Given the description of an element on the screen output the (x, y) to click on. 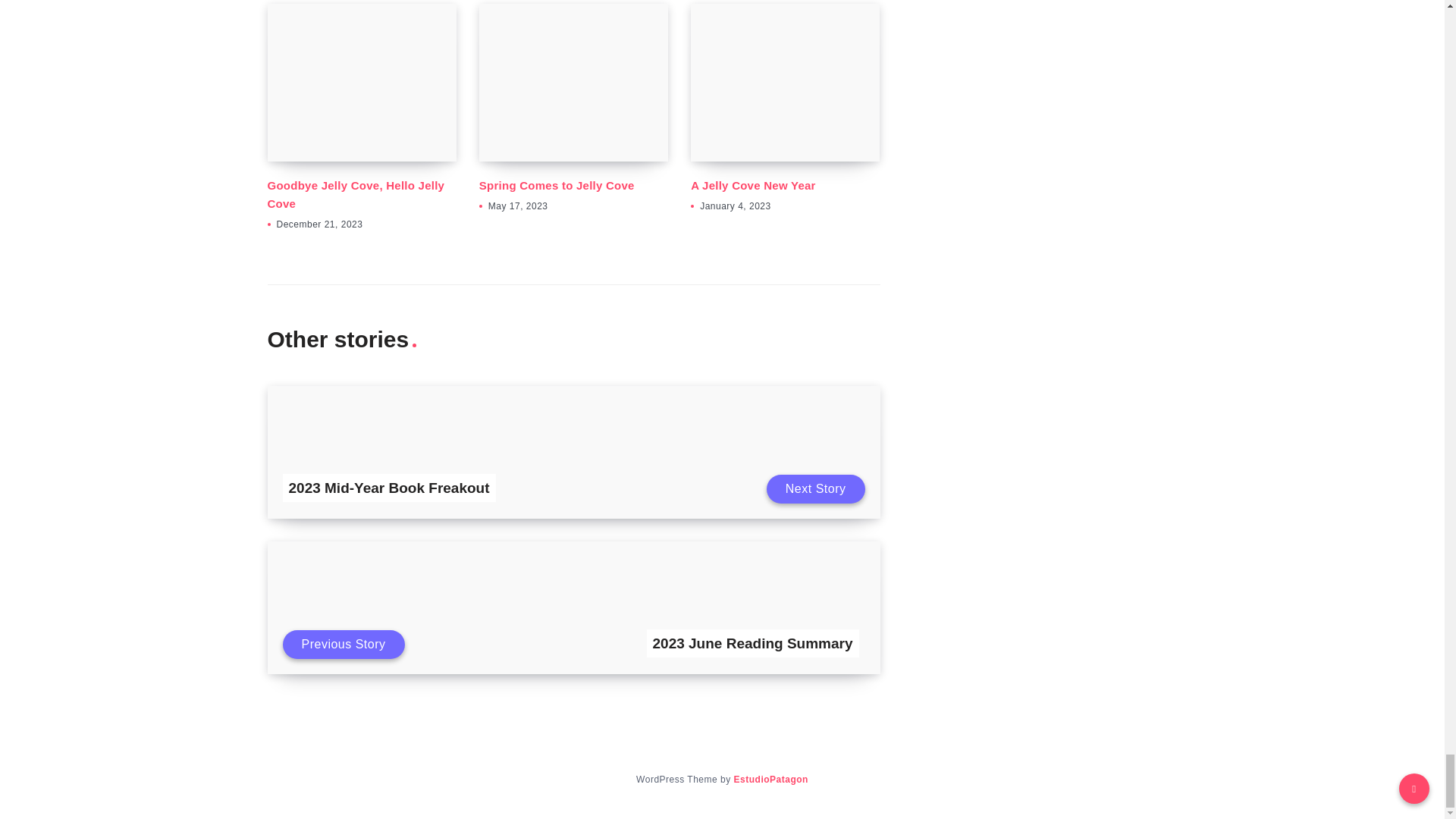
Powered with Veen (770, 778)
